Given the description of an element on the screen output the (x, y) to click on. 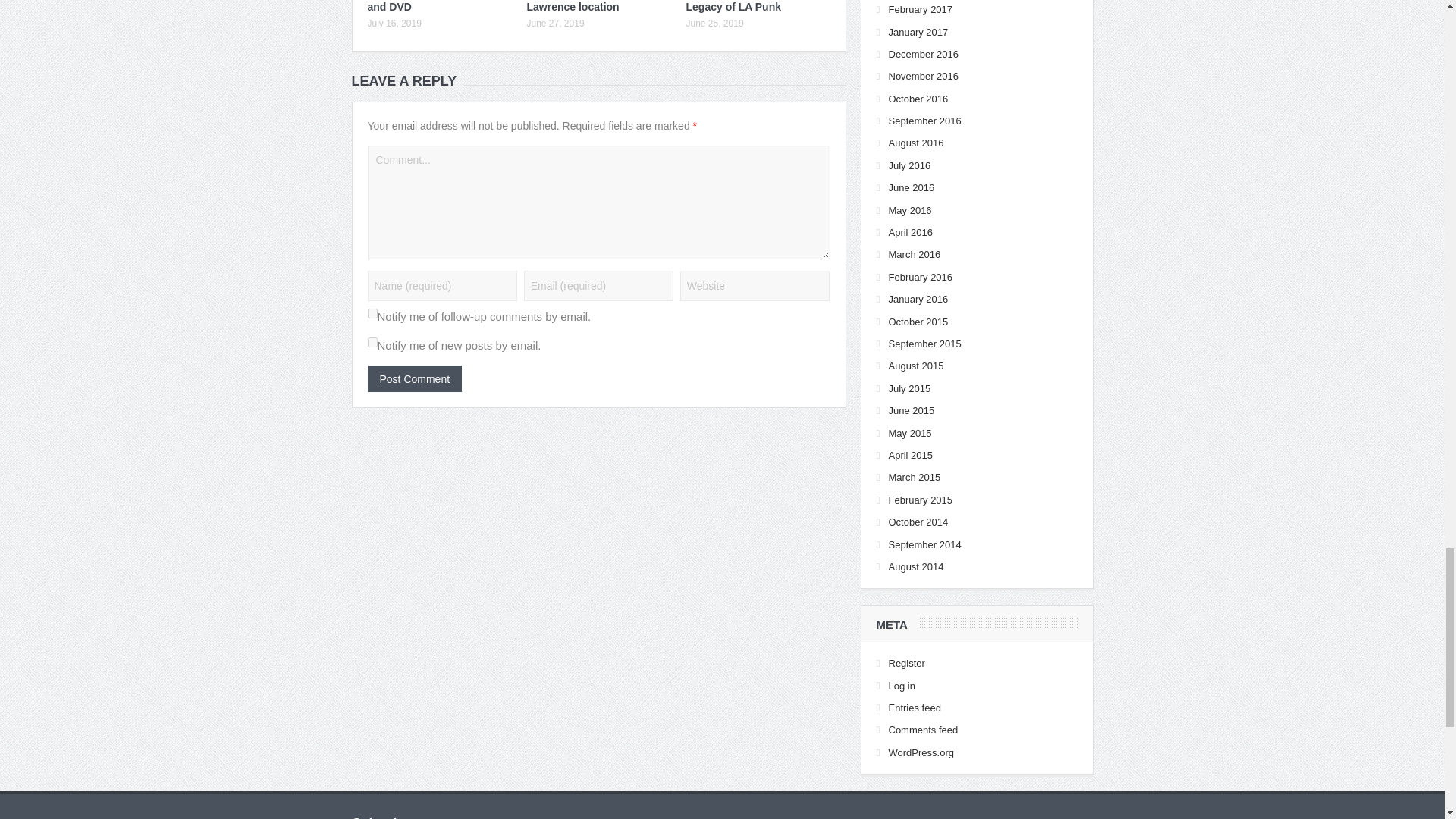
subscribe (371, 342)
subscribe (371, 313)
Post Comment (413, 378)
